Given the description of an element on the screen output the (x, y) to click on. 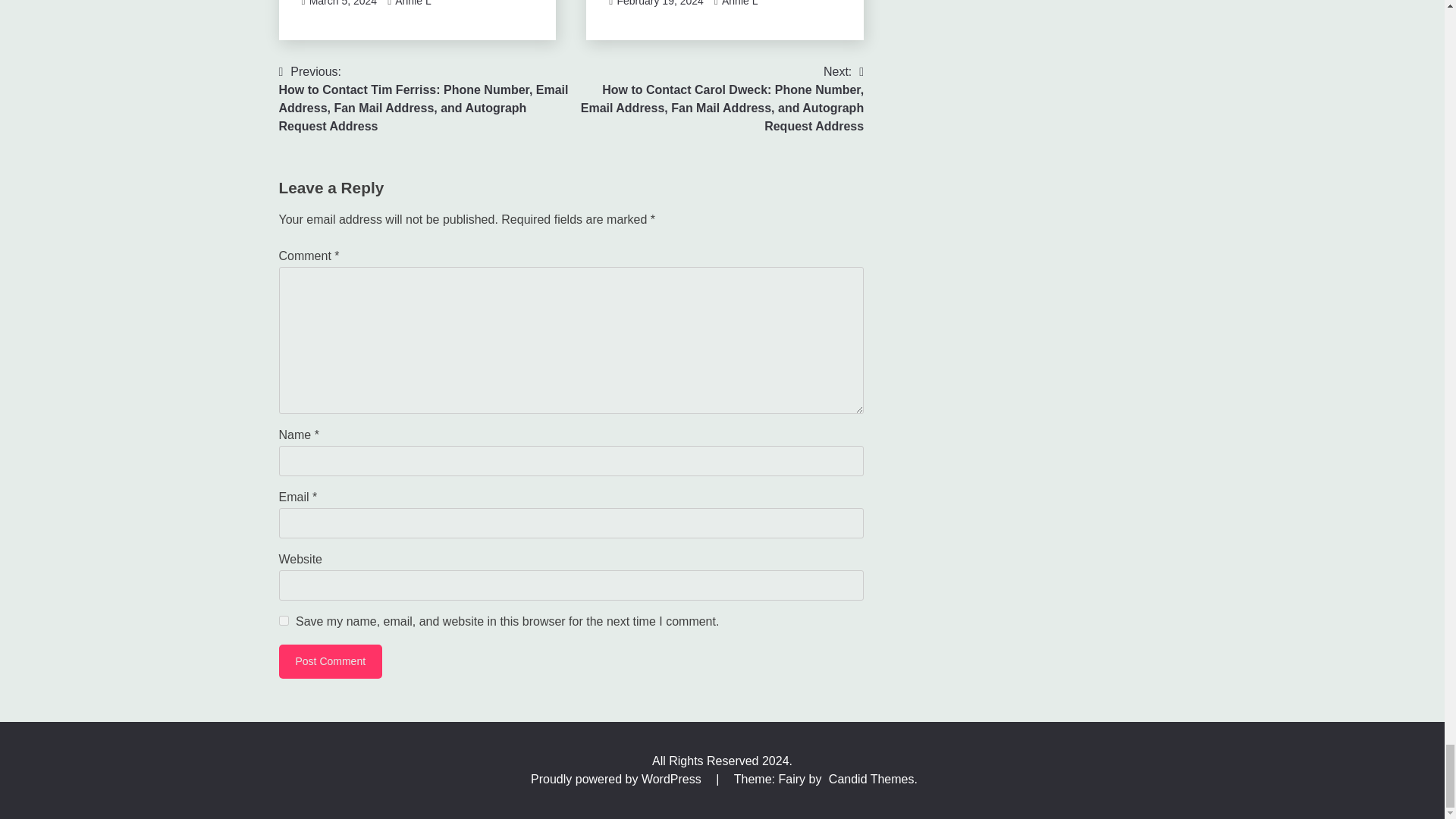
Post Comment (330, 661)
Post Comment (330, 661)
February 19, 2024 (659, 3)
Annie L (739, 3)
Annie L (412, 3)
yes (283, 620)
March 5, 2024 (342, 3)
